Given the description of an element on the screen output the (x, y) to click on. 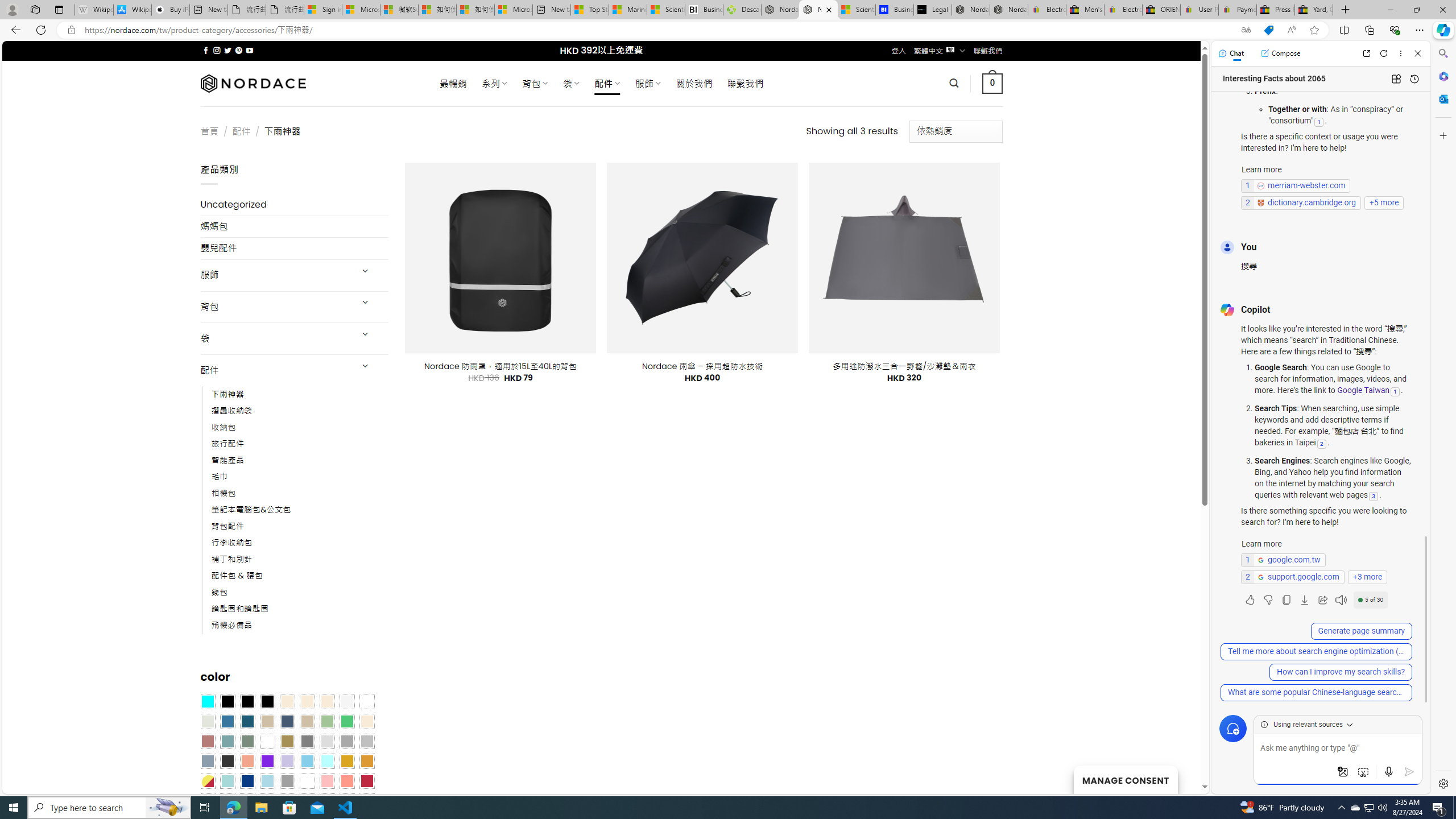
  0   (992, 83)
Follow on Pinterest (237, 50)
Compose (1280, 52)
